Given the description of an element on the screen output the (x, y) to click on. 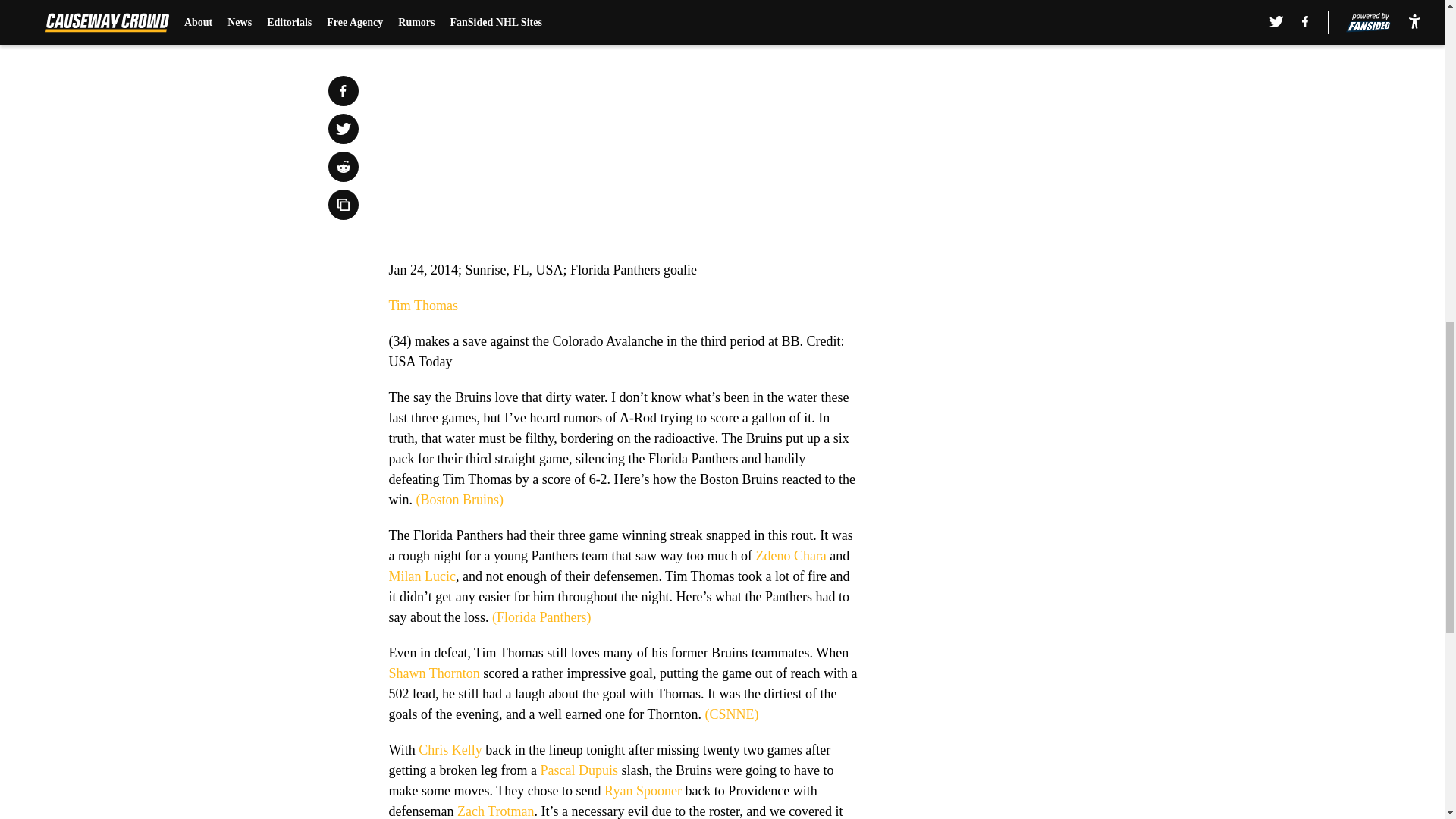
Shawn Thornton (433, 672)
Chris Kelly (450, 749)
Milan Lucic (421, 575)
Pascal Dupuis (578, 770)
Zdeno Chara (790, 555)
Ryan Spooner (642, 790)
Tim Thomas (423, 305)
Zach Trotman (495, 811)
